Given the description of an element on the screen output the (x, y) to click on. 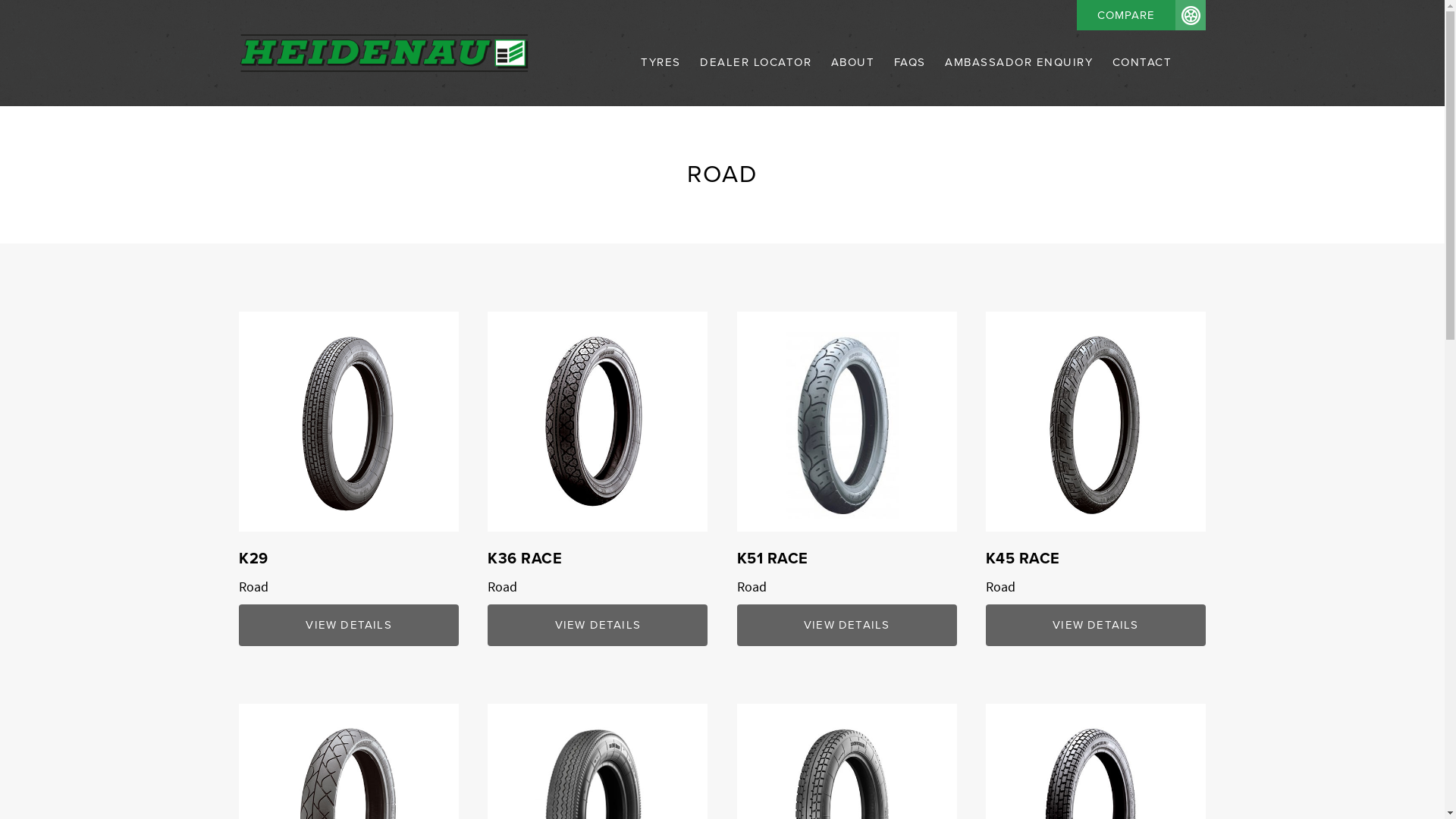
AMBASSADOR ENQUIRY Element type: text (1018, 79)
VIEW DETAILS Element type: text (348, 625)
VIEW DETAILS Element type: text (597, 625)
Heidenau Element type: hover (383, 53)
TYRES Element type: text (660, 79)
VIEW DETAILS Element type: text (847, 625)
FAQS Element type: text (909, 79)
COMPARE Element type: text (1140, 15)
CONTACT Element type: text (1138, 79)
VIEW DETAILS Element type: text (1095, 625)
DEALER LOCATOR Element type: text (755, 79)
ABOUT Element type: text (852, 79)
